Given the description of an element on the screen output the (x, y) to click on. 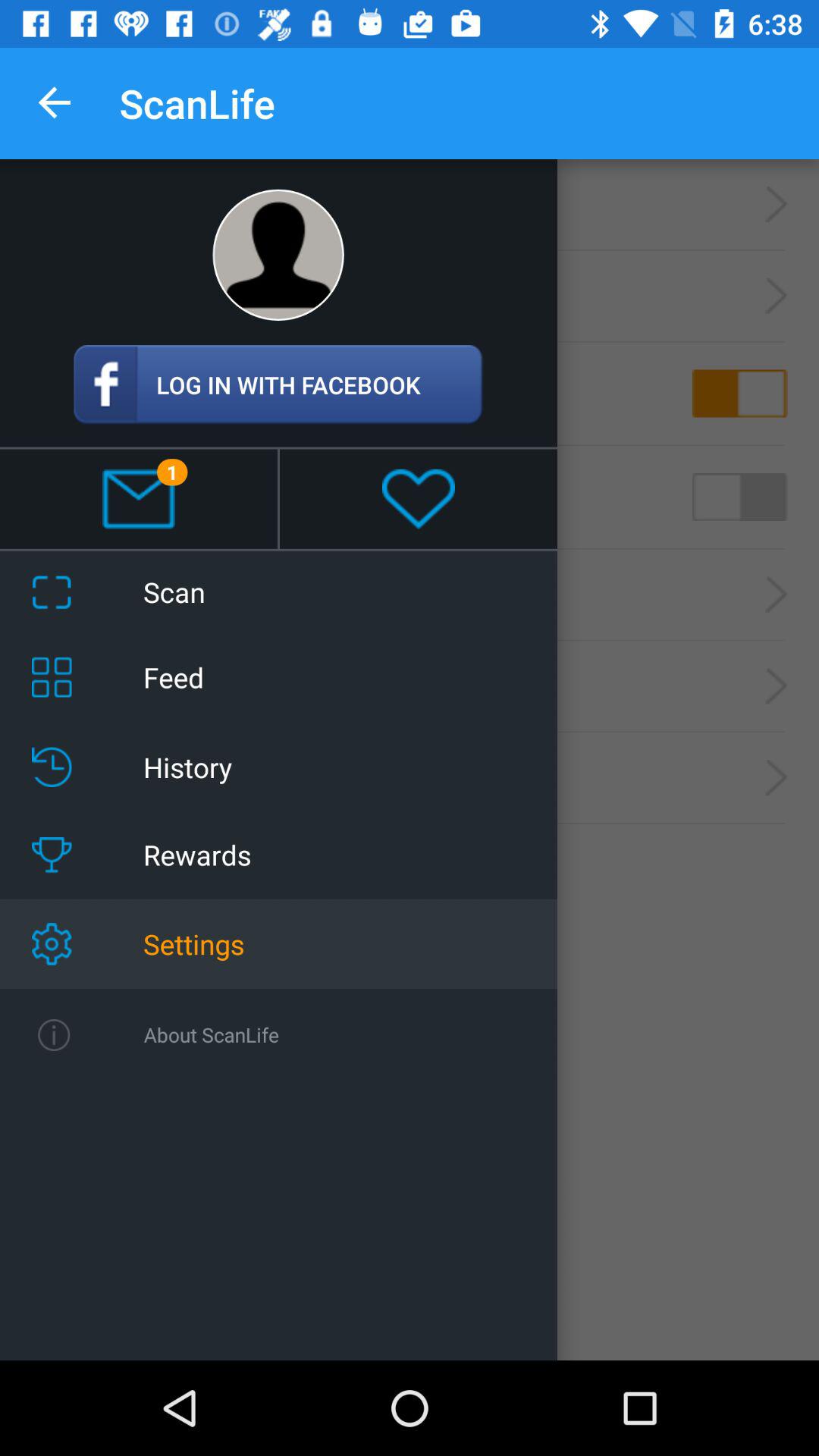
the second arrow from the top of the page at the right side (776, 296)
select the heart emoji symbol below the login with facebook icon (418, 498)
select the option below the scan (409, 686)
select the scan icon beside the scan text (51, 592)
